Given the description of an element on the screen output the (x, y) to click on. 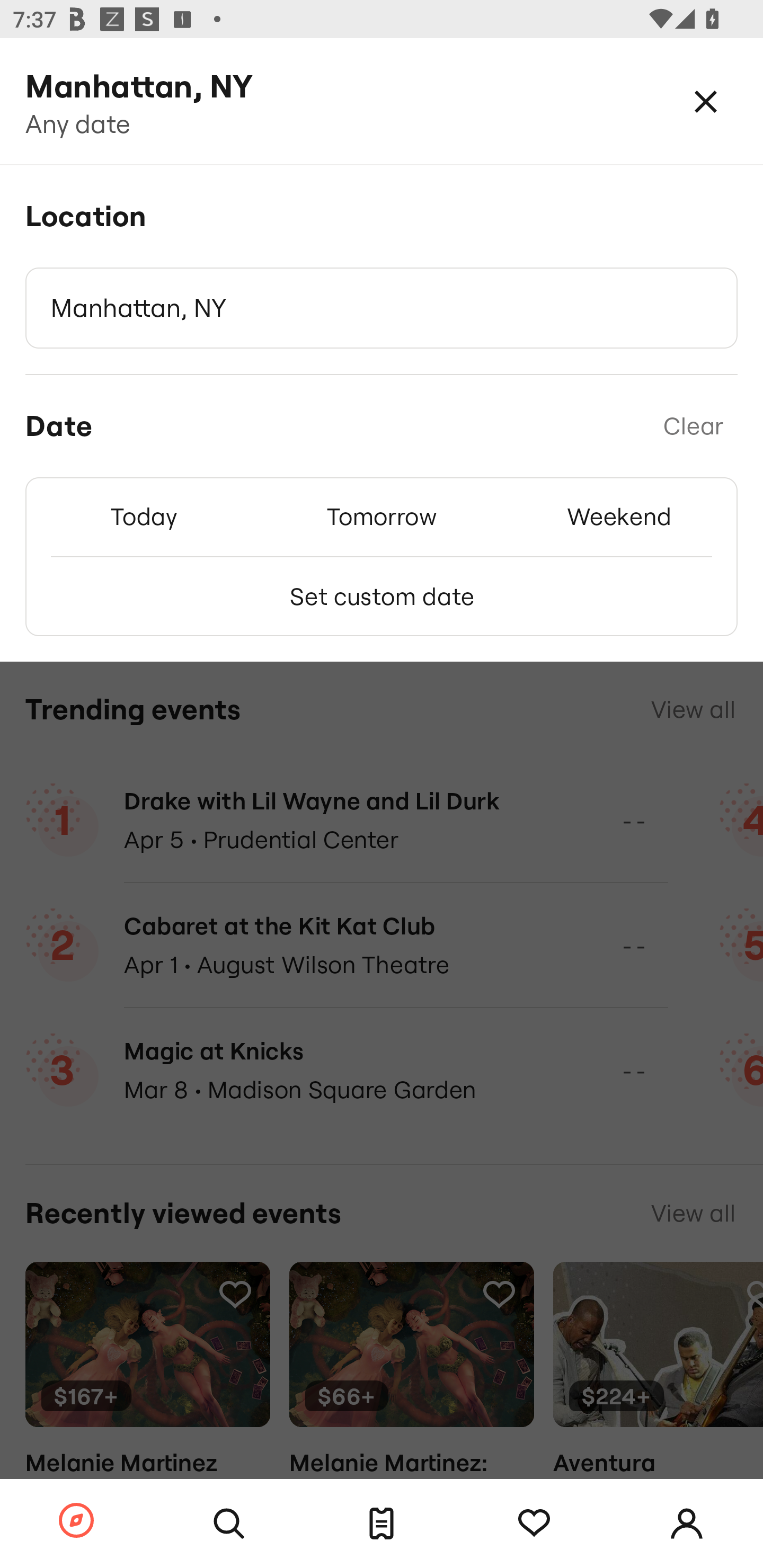
Close (705, 100)
Manhattan, NY (381, 308)
Clear (693, 426)
Today (143, 516)
Tomorrow (381, 516)
Weekend (618, 516)
Set custom date (381, 596)
Browse (76, 1521)
Search (228, 1523)
Tickets (381, 1523)
Tracking (533, 1523)
Account (686, 1523)
